Given the description of an element on the screen output the (x, y) to click on. 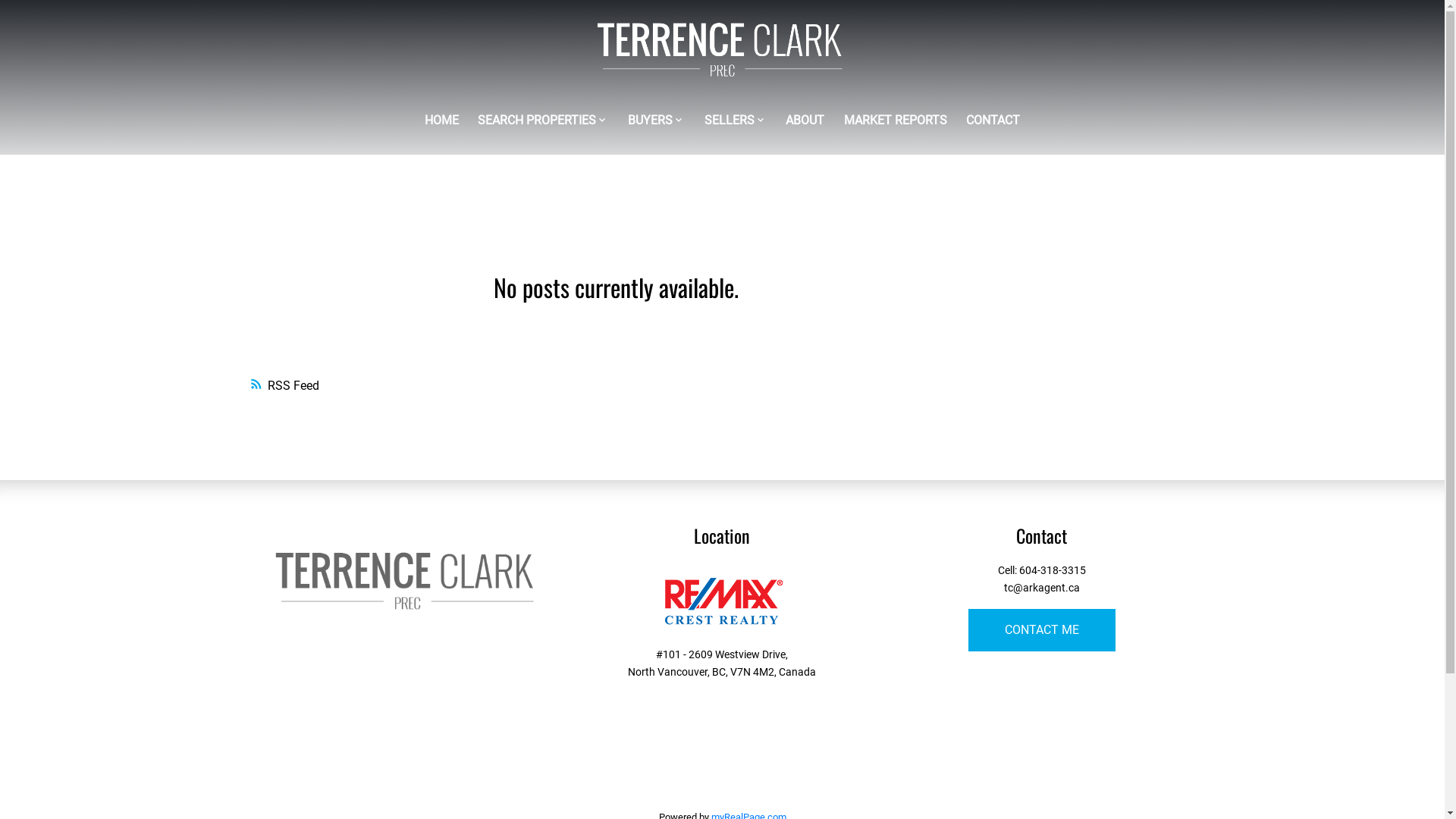
SEARCH PROPERTIES Element type: text (536, 121)
ABOUT Element type: text (804, 121)
BUYERS Element type: text (649, 121)
HOME Element type: text (441, 121)
CONTACT ME Element type: text (1041, 629)
RSS Element type: text (615, 385)
SELLERS Element type: text (728, 121)
Cell: 604-318-3315 Element type: text (1041, 570)
CONTACT Element type: text (992, 121)
MARKET REPORTS Element type: text (895, 121)
tc@arkagent.ca Element type: text (1041, 587)
